Given the description of an element on the screen output the (x, y) to click on. 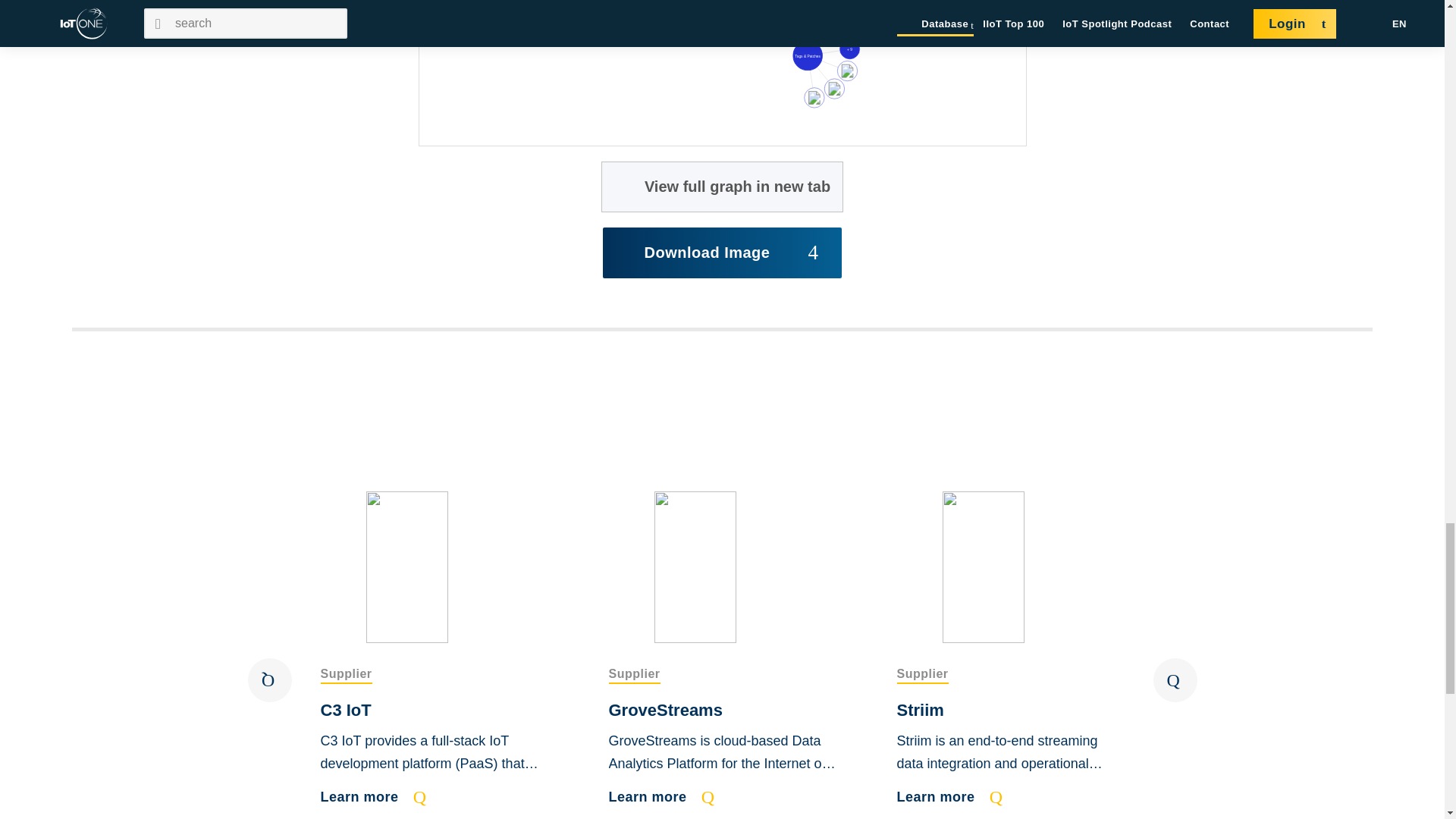
Brady Corporation (834, 88)
Stellapps Technologies (849, 48)
iRhythm Technologies (722, 3)
LifeSignals (814, 97)
Nokia (868, 6)
Digital Barriers (846, 70)
Deutsche Telekom (857, 24)
View full graph in new tab (722, 186)
